Given the description of an element on the screen output the (x, y) to click on. 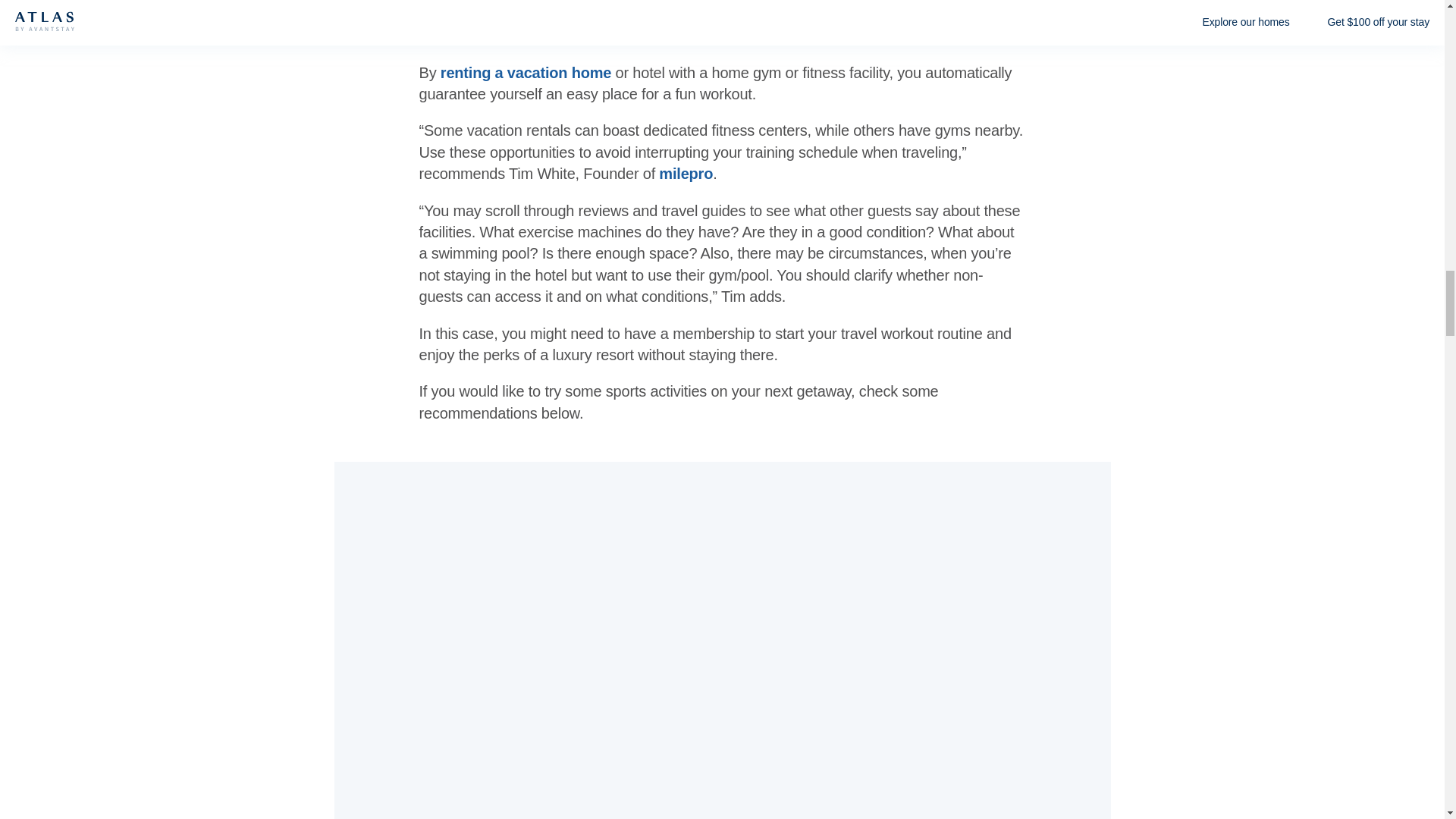
renting a vacation home (526, 72)
milepro (686, 173)
